Given the description of an element on the screen output the (x, y) to click on. 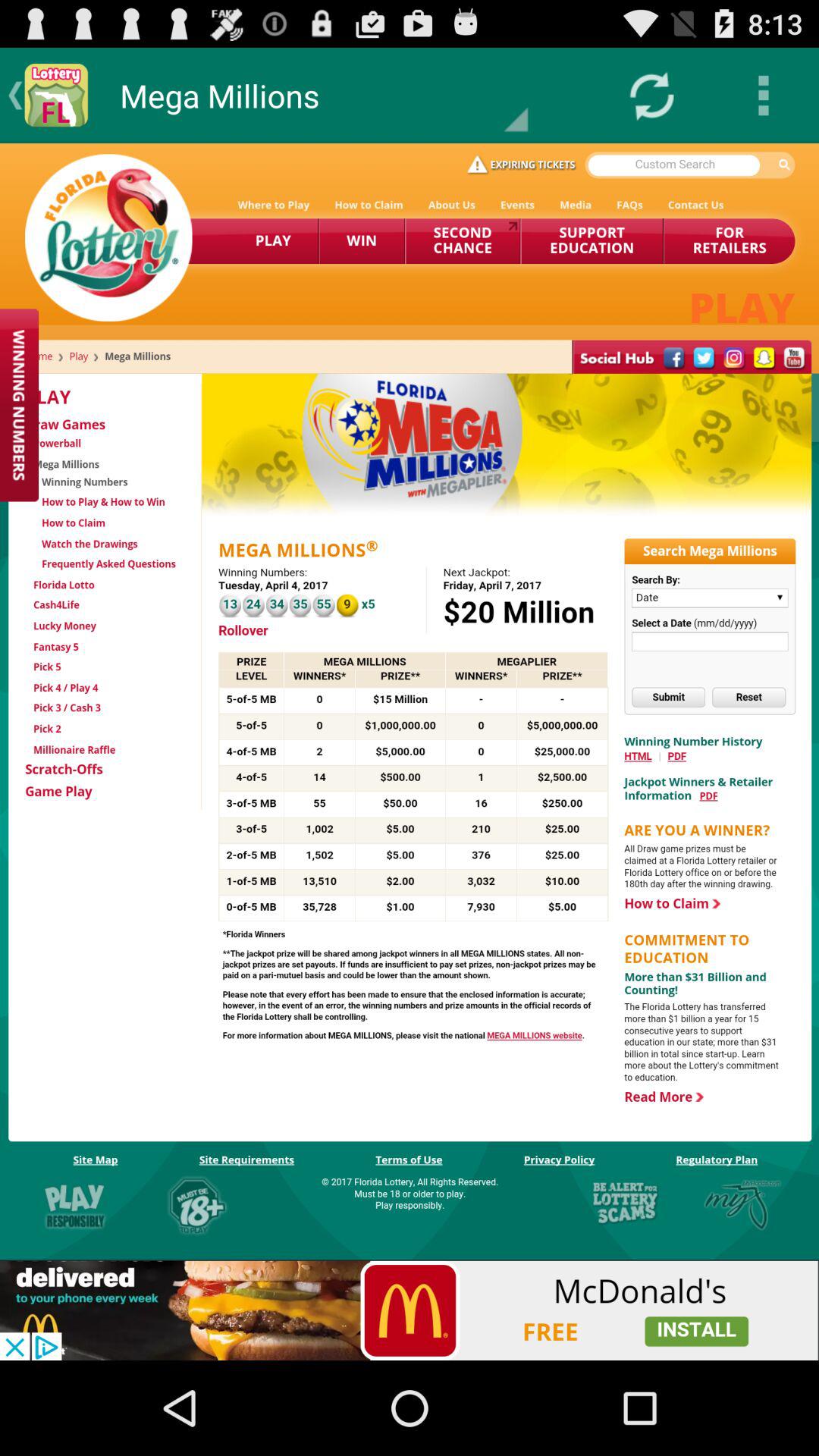
install mcdonald 's app for unique offers (409, 1310)
